Given the description of an element on the screen output the (x, y) to click on. 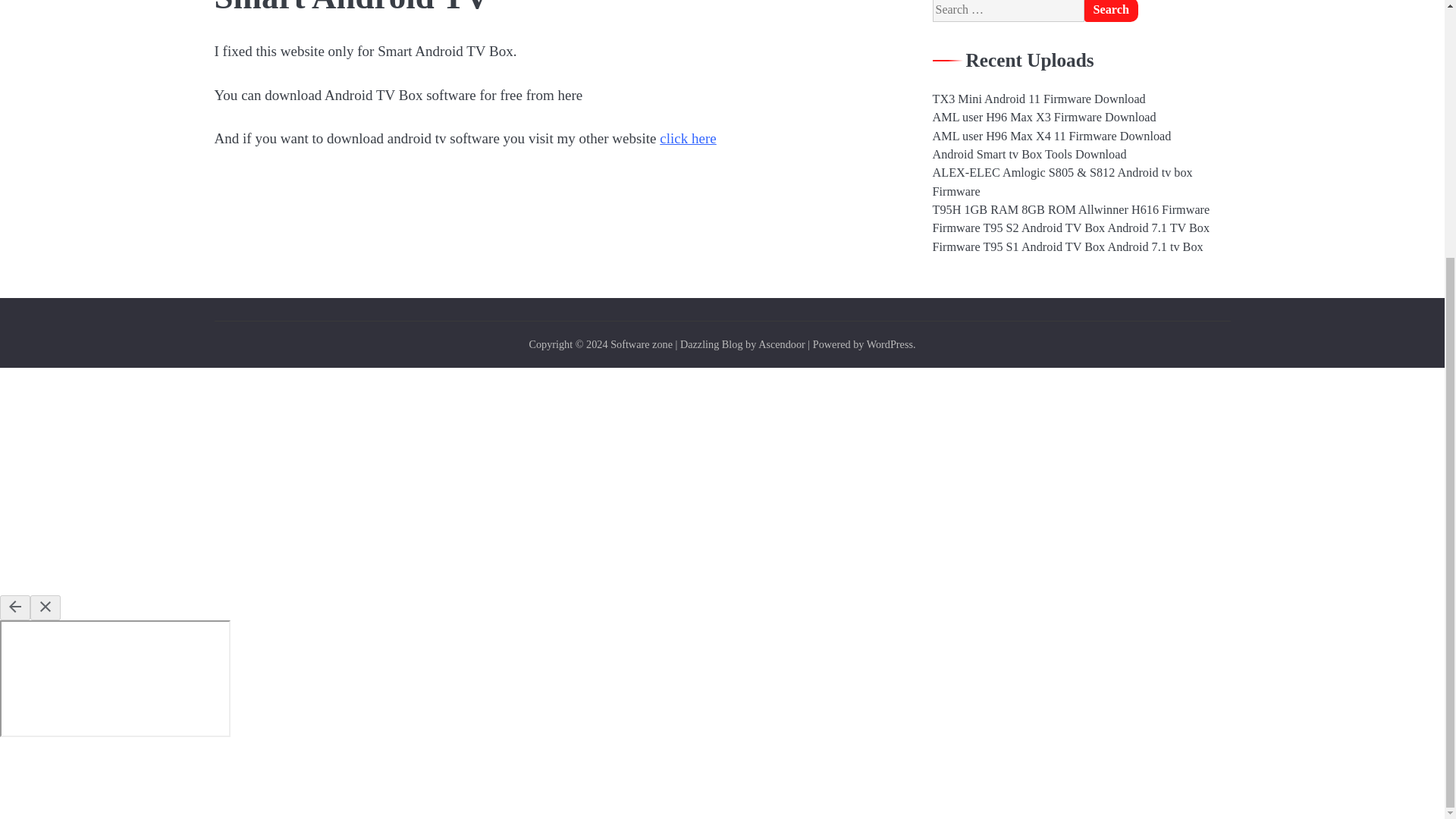
Search (1111, 11)
click here (687, 138)
Search (1111, 11)
TX3 Mini Android 11 Firmware Download (1039, 99)
AML user H96 Max X4 11 Firmware Download (1052, 136)
Search (1111, 11)
AML user H96 Max X3 Firmware Download (1044, 117)
